Given the description of an element on the screen output the (x, y) to click on. 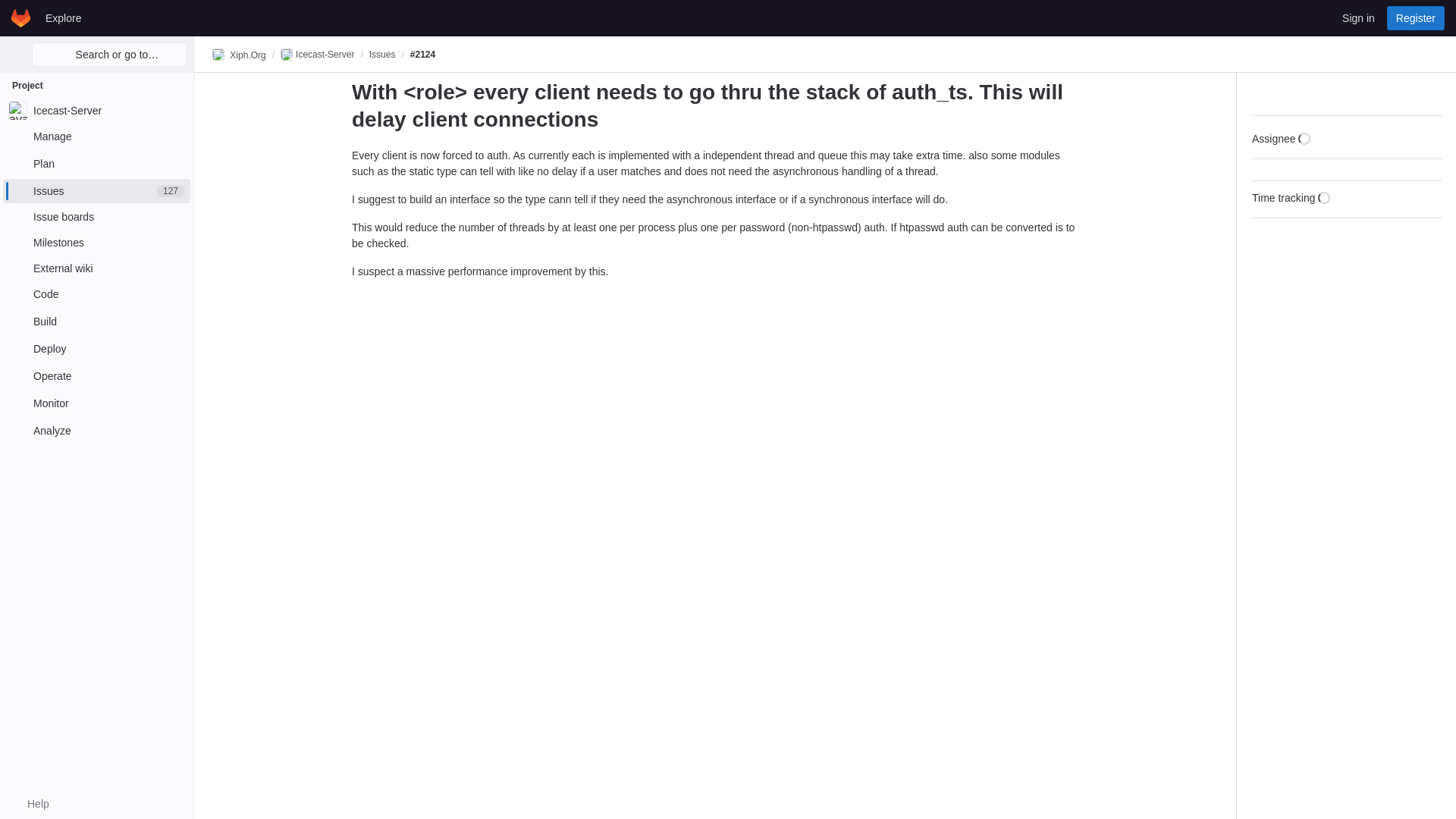
External wiki (96, 268)
Homepage (20, 17)
Register (1415, 17)
Collapse sidebar (1432, 94)
Milestones (96, 242)
Manage (96, 136)
Icecast-Server (96, 110)
Explore (63, 17)
Plan (96, 163)
Code (96, 293)
